Given the description of an element on the screen output the (x, y) to click on. 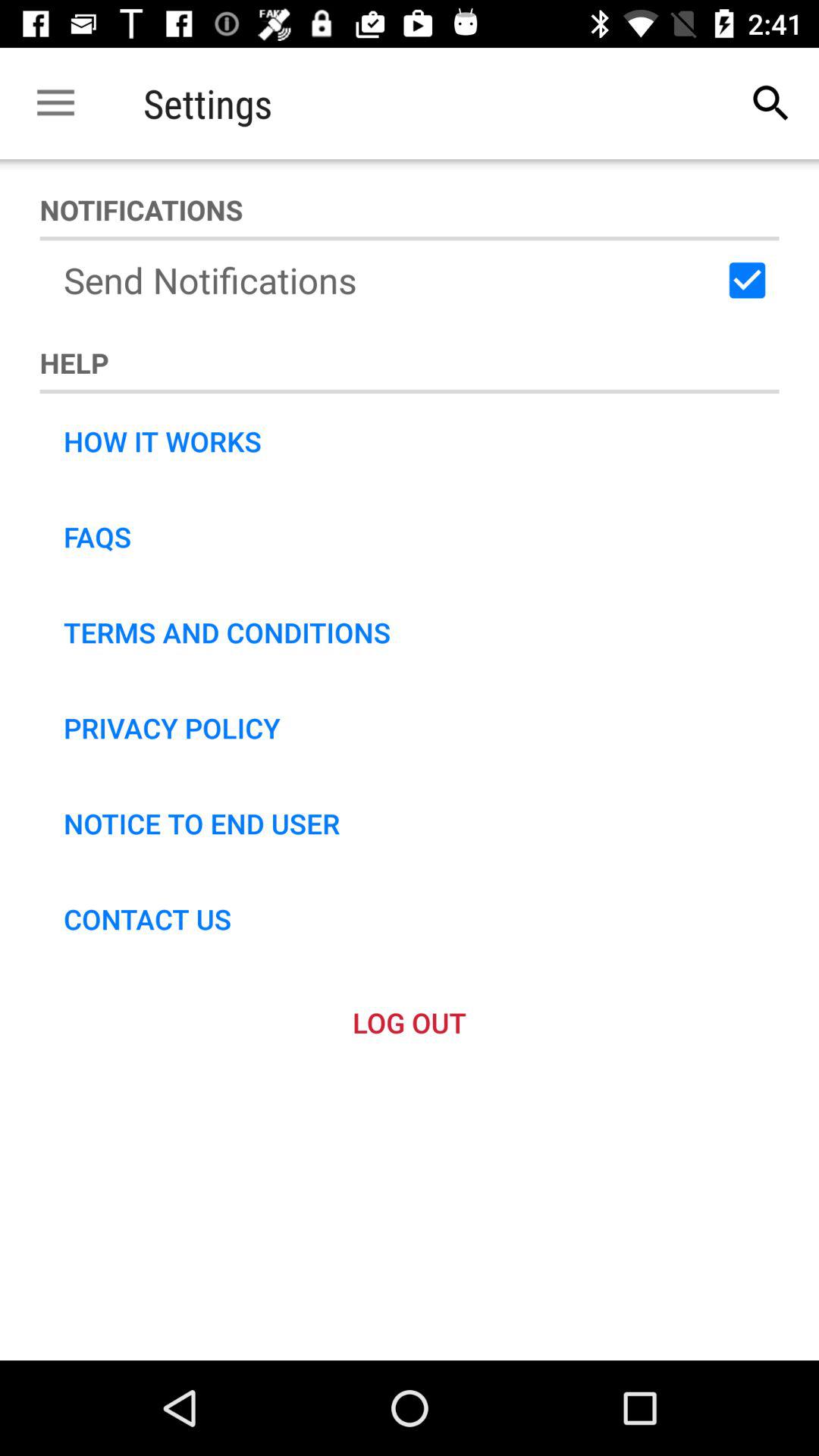
select the icon next to the settings item (55, 103)
